Given the description of an element on the screen output the (x, y) to click on. 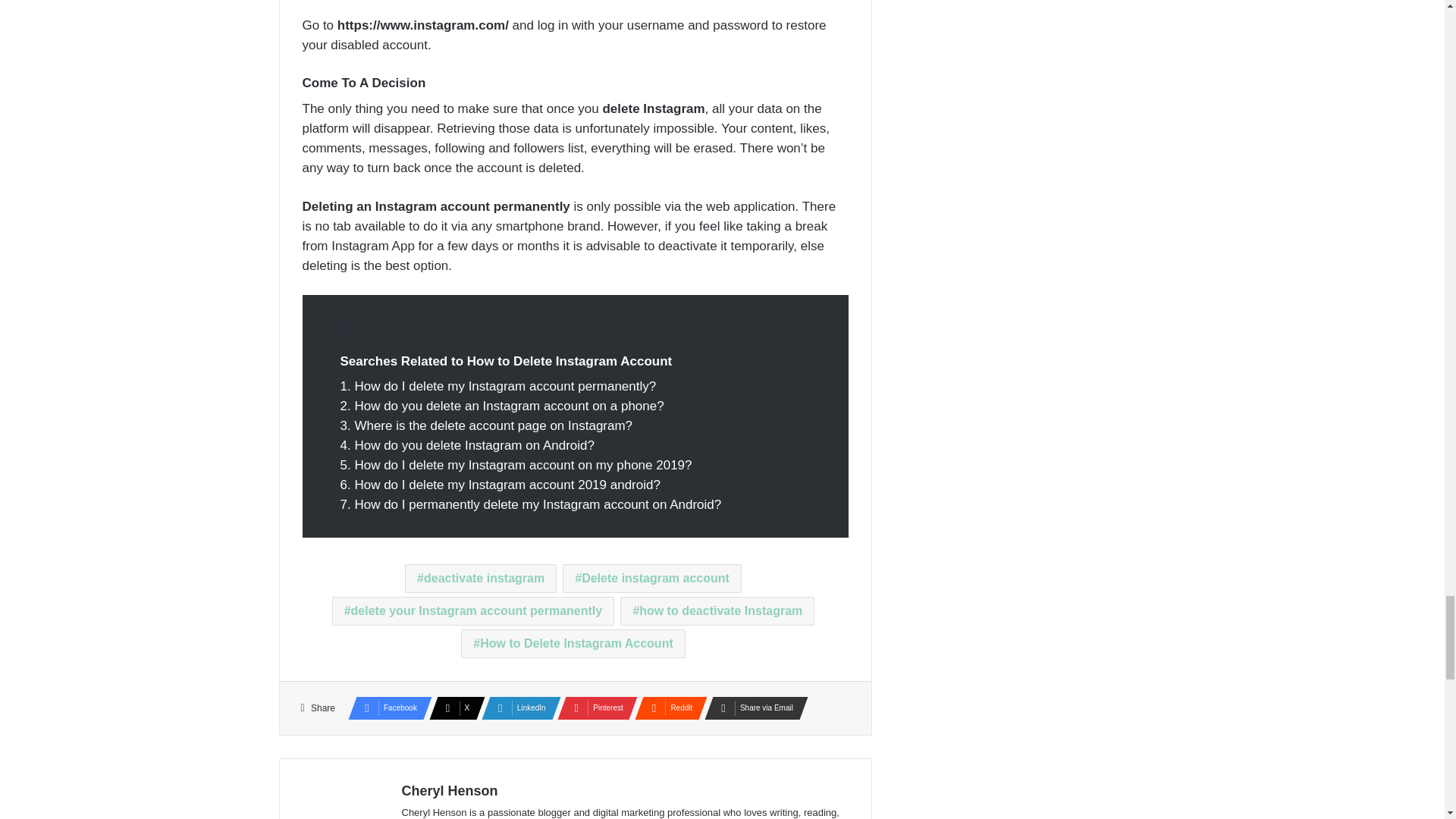
Facebook (385, 707)
delete your Instagram account permanently (472, 611)
Reddit (666, 707)
Pinterest (592, 707)
deactivate instagram (480, 578)
Delete instagram account (651, 578)
LinkedIn (516, 707)
Share via Email (751, 707)
X (452, 707)
